Given the description of an element on the screen output the (x, y) to click on. 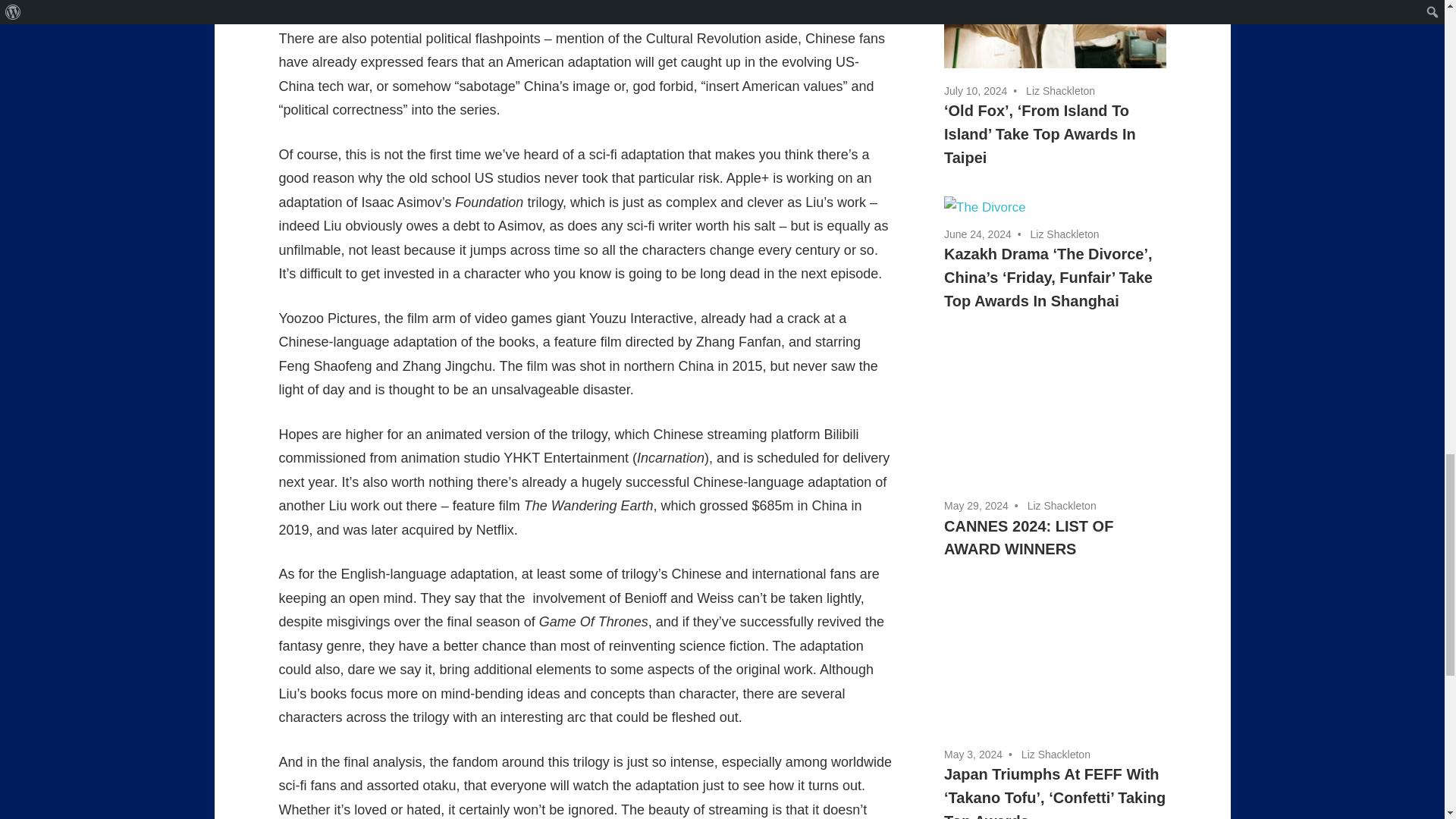
View all posts by Liz Shackleton (1060, 91)
10:21 pm (975, 91)
